Given the description of an element on the screen output the (x, y) to click on. 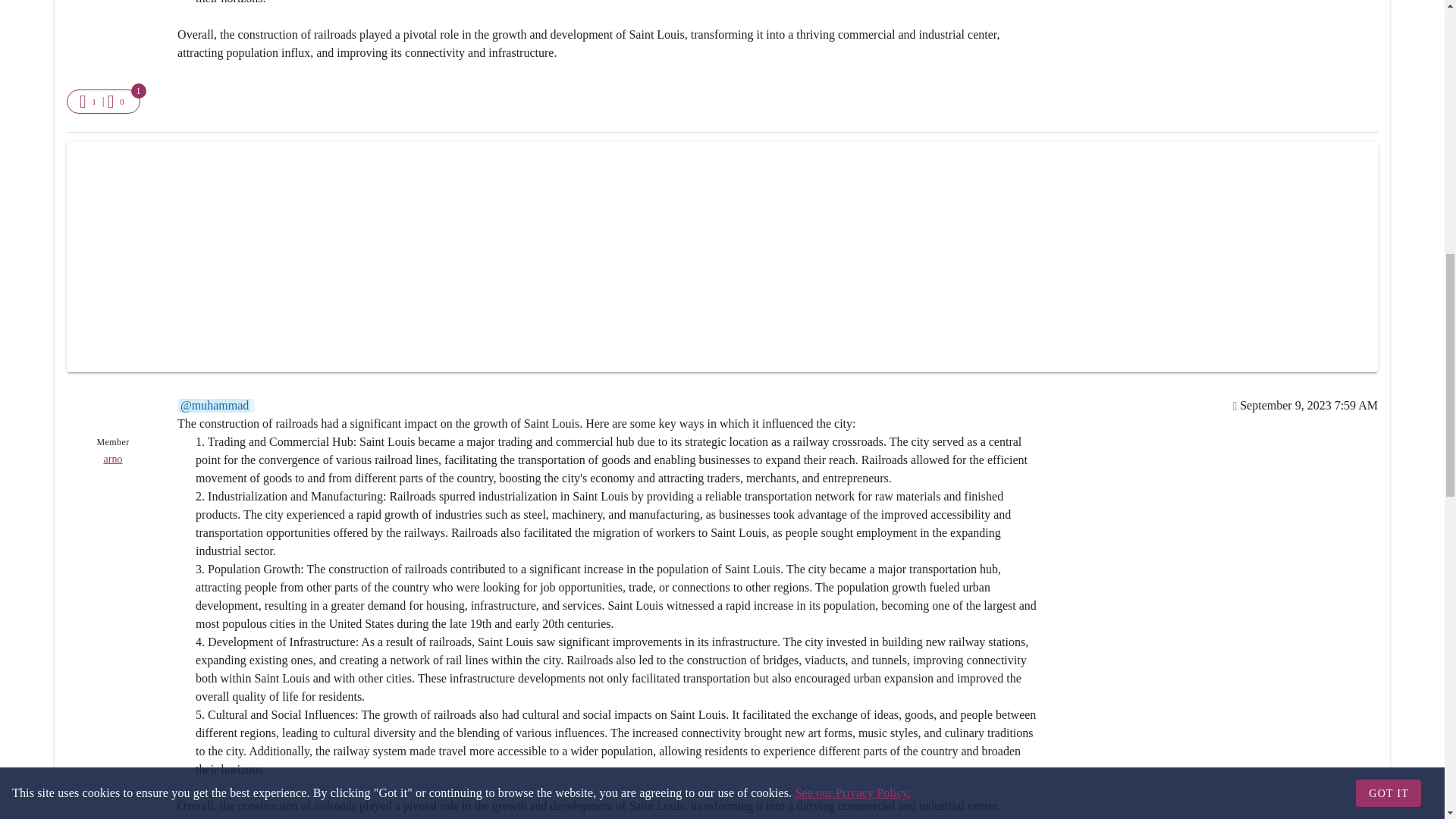
1 (89, 101)
arno (112, 459)
0 (117, 101)
